Given the description of an element on the screen output the (x, y) to click on. 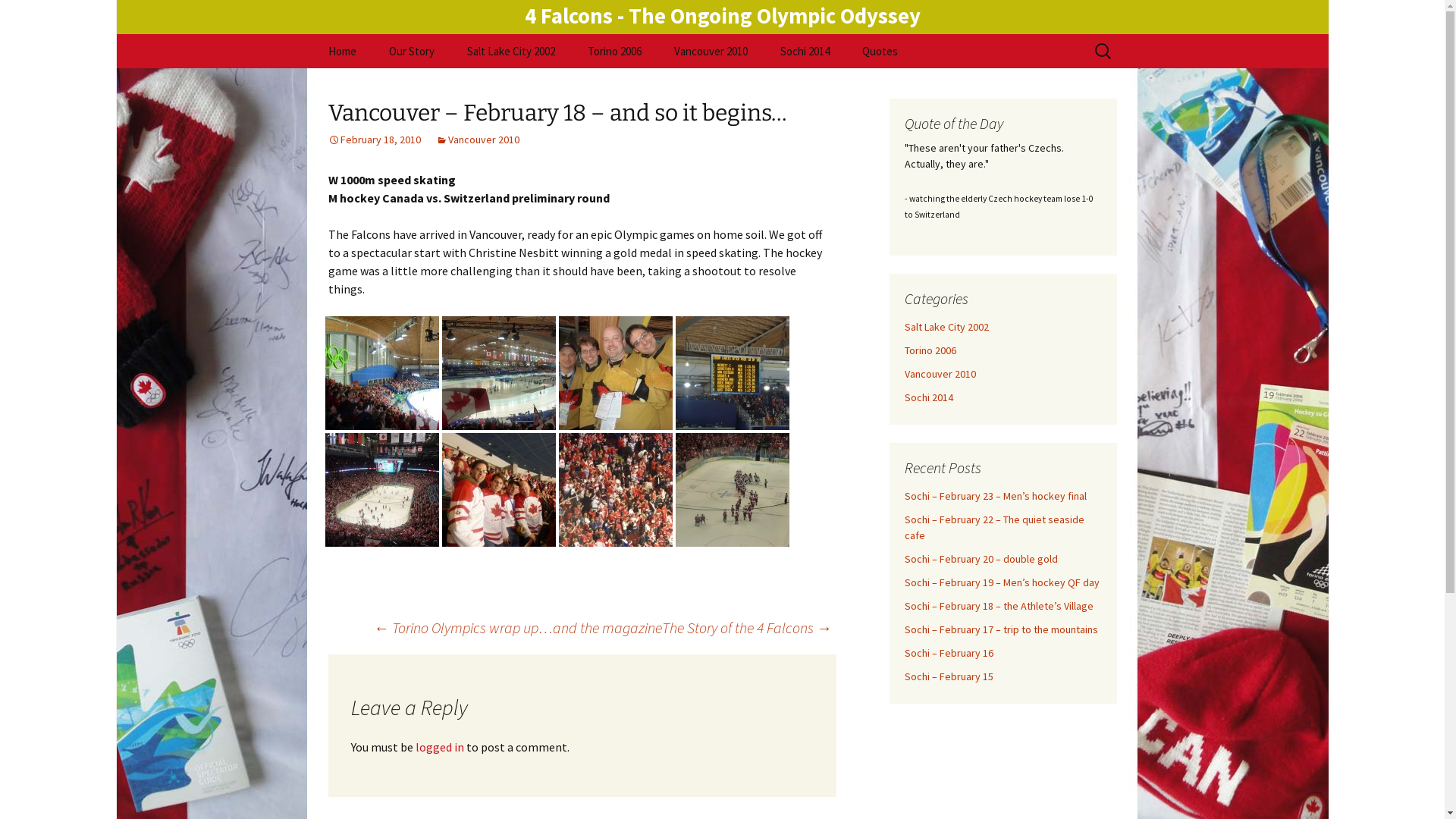
Quotes Element type: text (879, 51)
Skip to content Element type: text (312, 33)
Search Element type: text (18, 16)
Sochi 2014 Element type: text (927, 397)
Vancouver 2010 Element type: text (939, 373)
Vancouver 2010 Element type: text (710, 51)
Our Story Element type: text (410, 51)
logged in Element type: text (439, 746)
Torino 2006 Element type: text (929, 350)
Torino 2006 Element type: text (613, 51)
4 Falcons - The Ongoing Olympic Odyssey Element type: text (722, 15)
February 18, 2010 Element type: text (373, 139)
Salt Lake City 2002 Element type: text (510, 51)
Sochi 2014 Element type: text (804, 51)
Home Element type: text (341, 51)
Vancouver 2010 Element type: text (476, 139)
Salt Lake City 2002 Element type: text (945, 326)
